Given the description of an element on the screen output the (x, y) to click on. 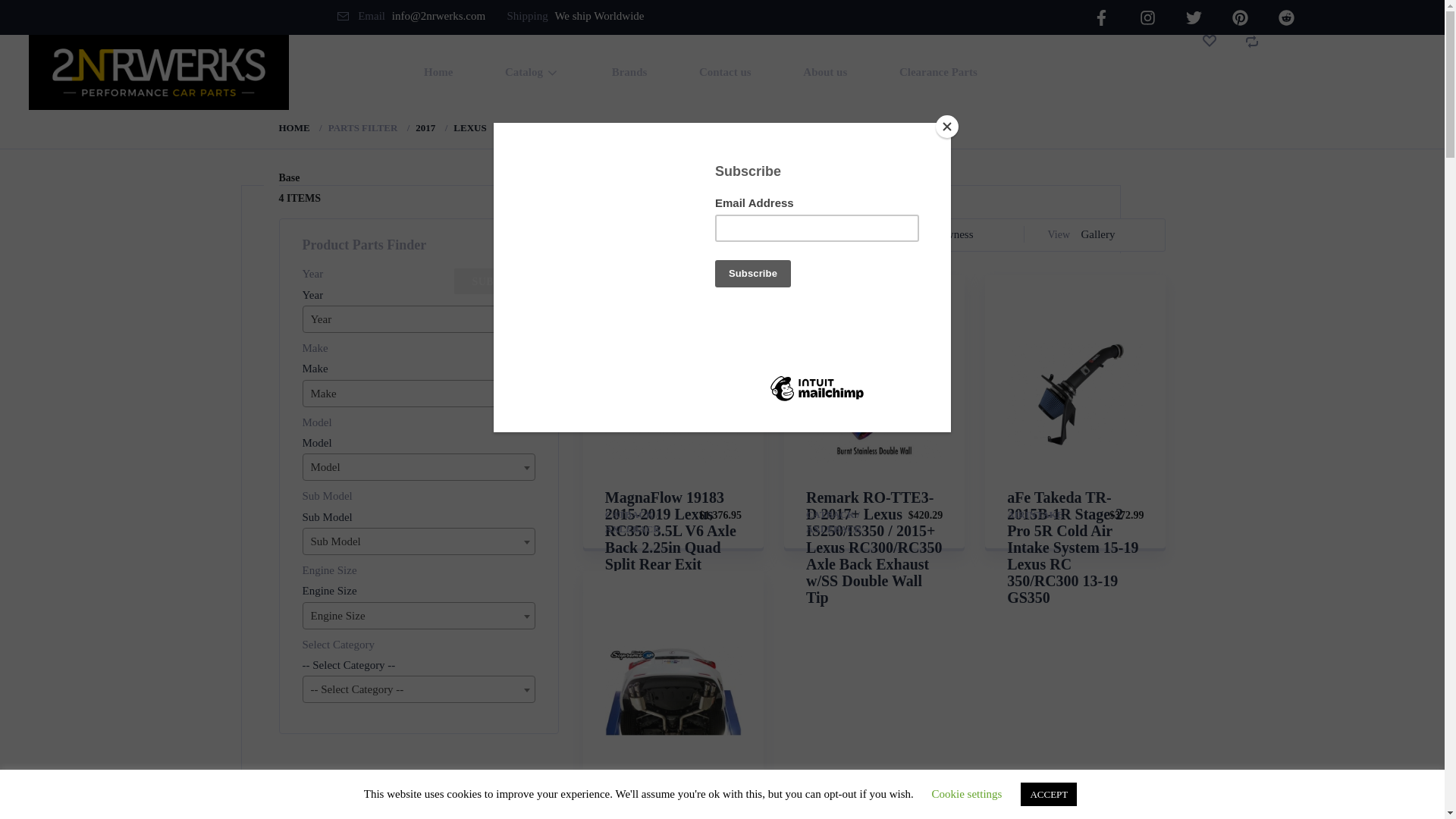
LEXUS Element type: text (469, 128)
Model Element type: text (331, 443)
Make Element type: text (329, 368)
Clearance Parts Element type: text (938, 72)
We ship Worldwide Element type: text (598, 15)
CATBACK / AXLEBACK Element type: text (633, 521)
Catalog Element type: text (532, 72)
2017 Element type: text (425, 128)
Submit Element type: text (493, 281)
-- Select Category -- Element type: text (363, 665)
ACCEPT Element type: text (1048, 794)
About us Element type: text (825, 72)
RC350 Element type: text (519, 128)
AIRINTAKE Element type: text (1035, 514)
HOME Element type: text (294, 128)
CATALOG Element type: text (649, 234)
Sub Model Element type: text (341, 517)
Cookie settings Element type: text (966, 793)
CATBACK / AXLEBACK Element type: text (834, 521)
info@2nrwerks.com Element type: text (438, 15)
Engine Size Element type: text (343, 591)
Home Element type: text (437, 72)
Year Element type: text (327, 295)
Brands Element type: text (629, 72)
Wishlist Element type: hover (1223, 71)
Compare Element type: hover (1267, 71)
Contact us Element type: text (725, 72)
